Given the description of an element on the screen output the (x, y) to click on. 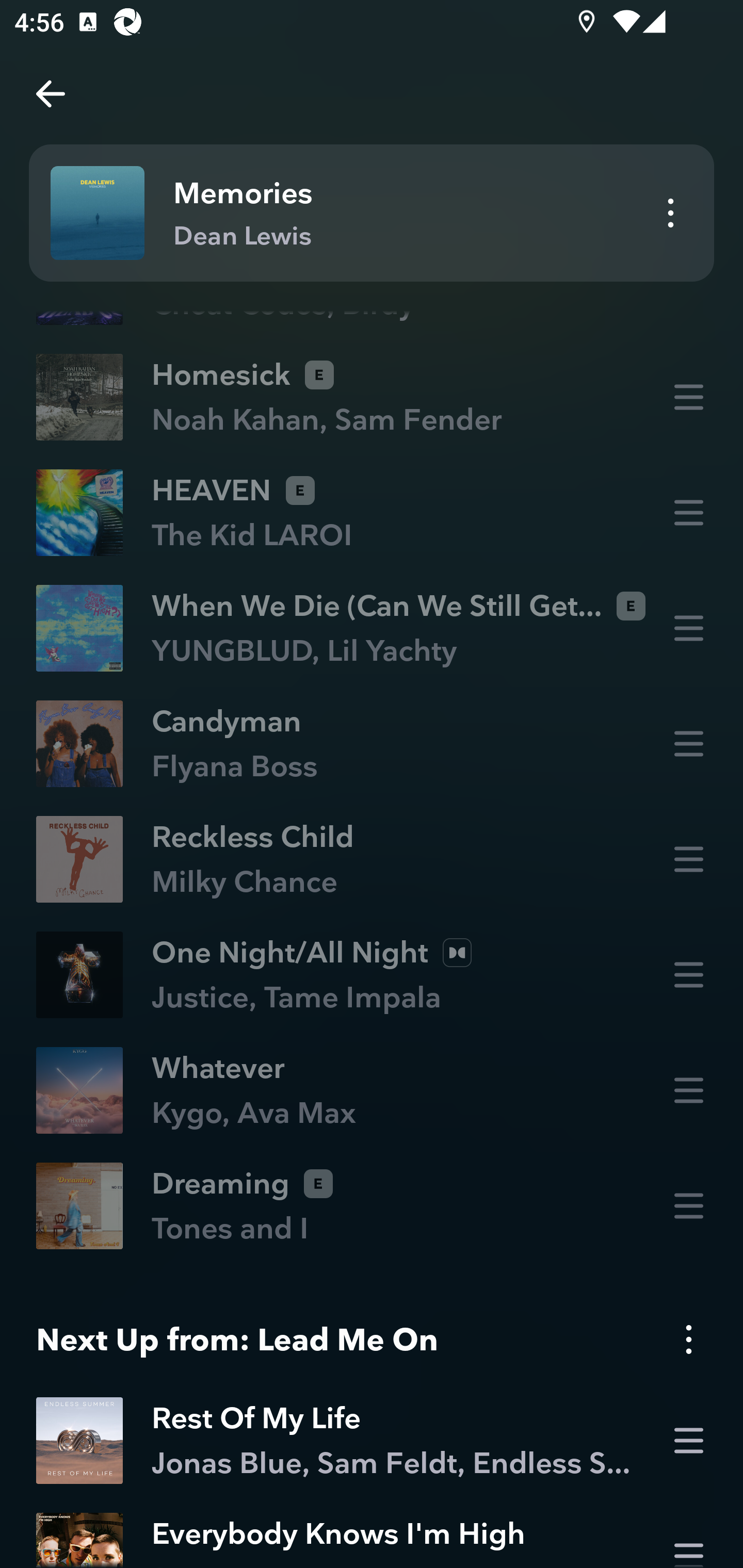
Memories Dean Lewis (371, 213)
Homesick Noah Kahan, Sam Fender (371, 396)
HEAVEN The Kid LAROI (371, 512)
Candyman Flyana Boss (371, 743)
Reckless Child Milky Chance (371, 859)
One Night/All Night Justice, Tame Impala (371, 975)
Whatever Kygo, Ava Max (371, 1090)
Dreaming Tones and I (371, 1205)
Options (688, 1339)
Everybody Knows I'm High SHAED (371, 1533)
